Given the description of an element on the screen output the (x, y) to click on. 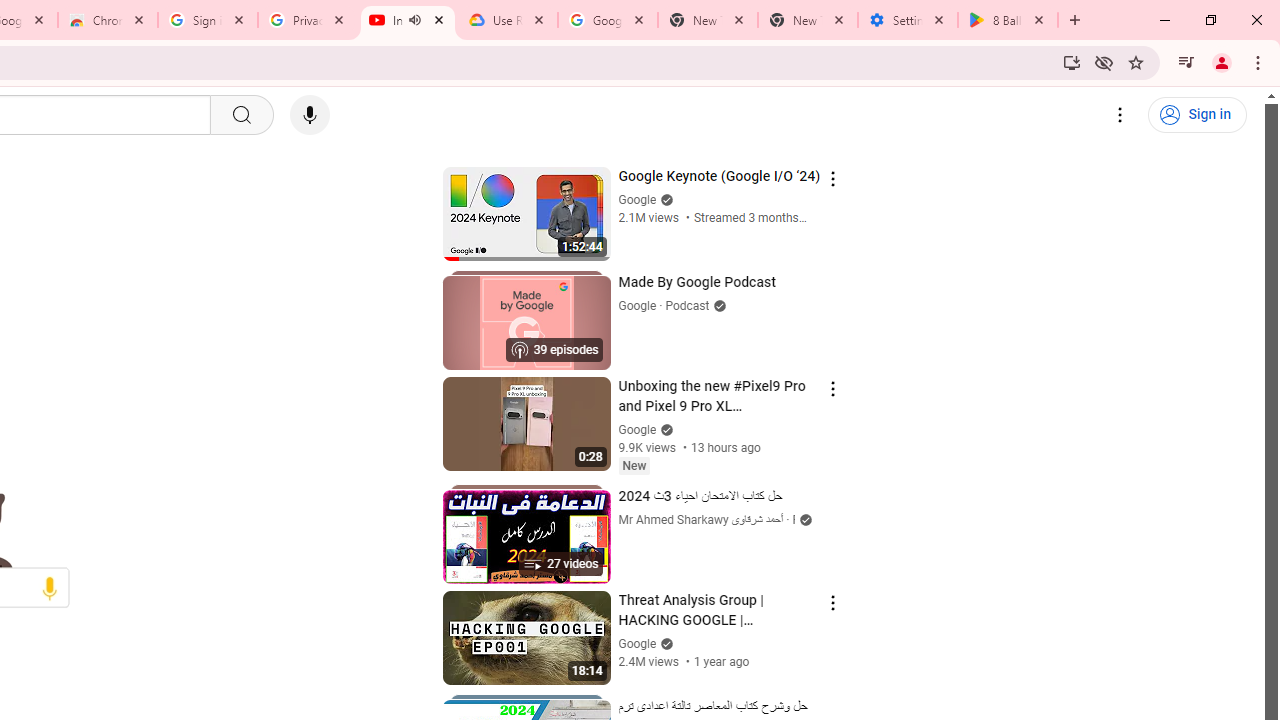
Verified (664, 642)
Sign in - Google Accounts (207, 20)
New Tab (807, 20)
Install YouTube (1071, 62)
8 Ball Pool - Apps on Google Play (1007, 20)
Settings - System (907, 20)
Search with your voice (309, 115)
